Given the description of an element on the screen output the (x, y) to click on. 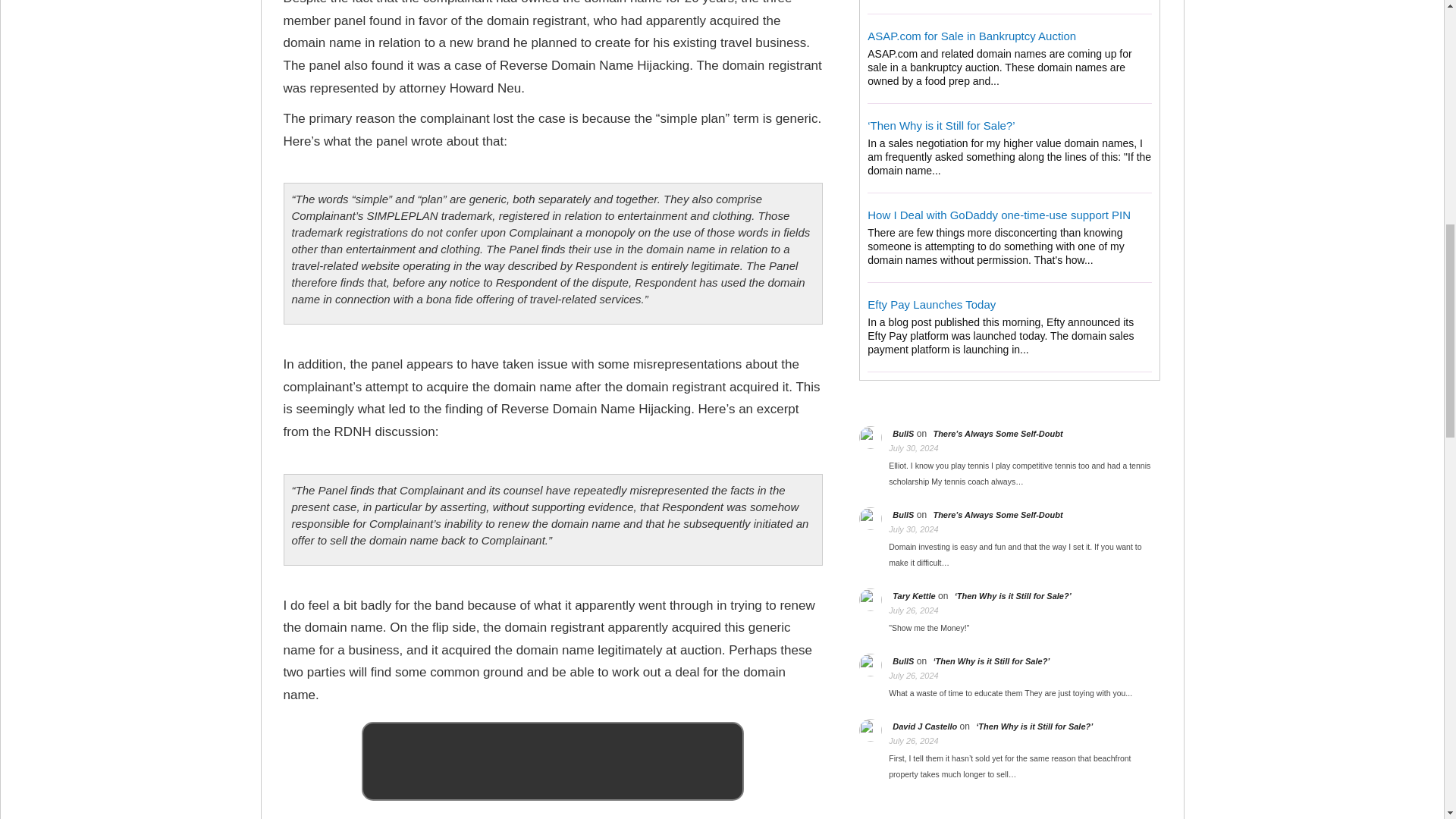
ASAP.com for Sale in Bankruptcy Auction (971, 35)
